Given the description of an element on the screen output the (x, y) to click on. 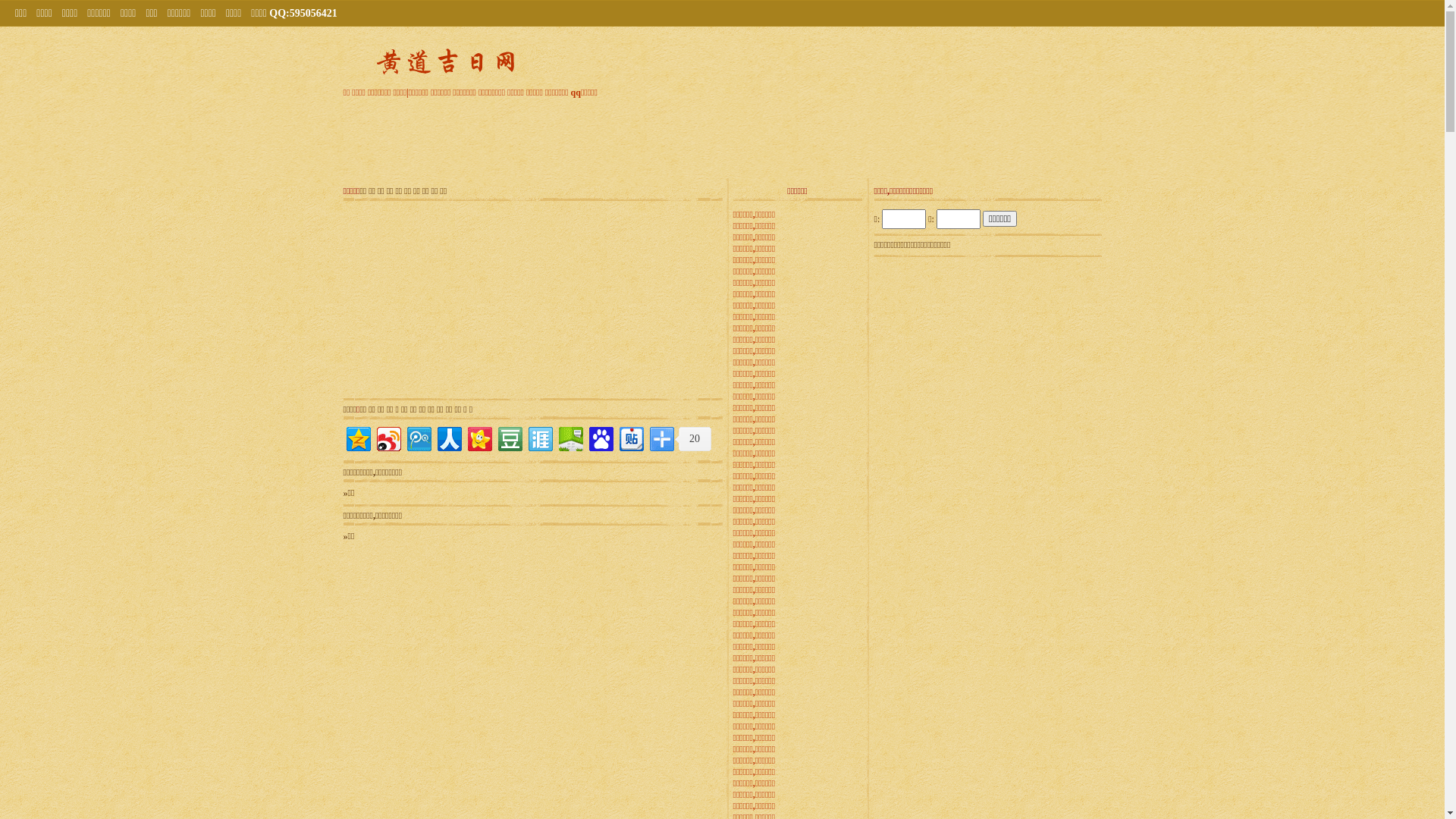
Advertisement Element type: hover (722, 136)
Advertisement Element type: hover (987, 545)
Advertisement Element type: hover (626, 299)
20 Element type: text (692, 438)
Advertisement Element type: hover (437, 299)
Advertisement Element type: hover (987, 355)
